Given the description of an element on the screen output the (x, y) to click on. 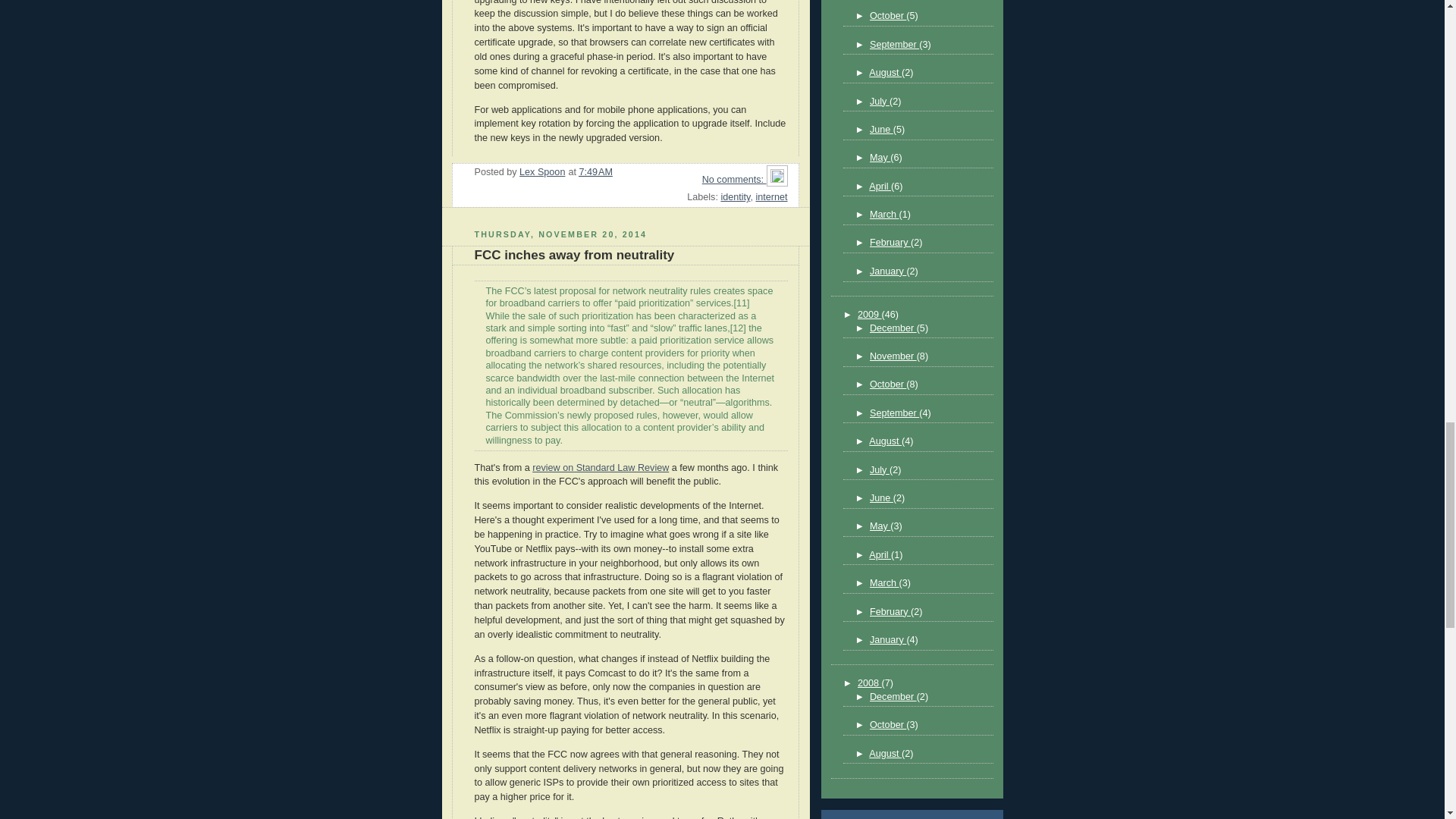
review on Standard Law Review (600, 467)
No comments: (729, 179)
Lex Spoon (541, 172)
Edit Post (776, 179)
identity (734, 196)
permanent link (595, 172)
author profile (541, 172)
internet (771, 196)
FCC inches away from neutrality (574, 255)
